Given the description of an element on the screen output the (x, y) to click on. 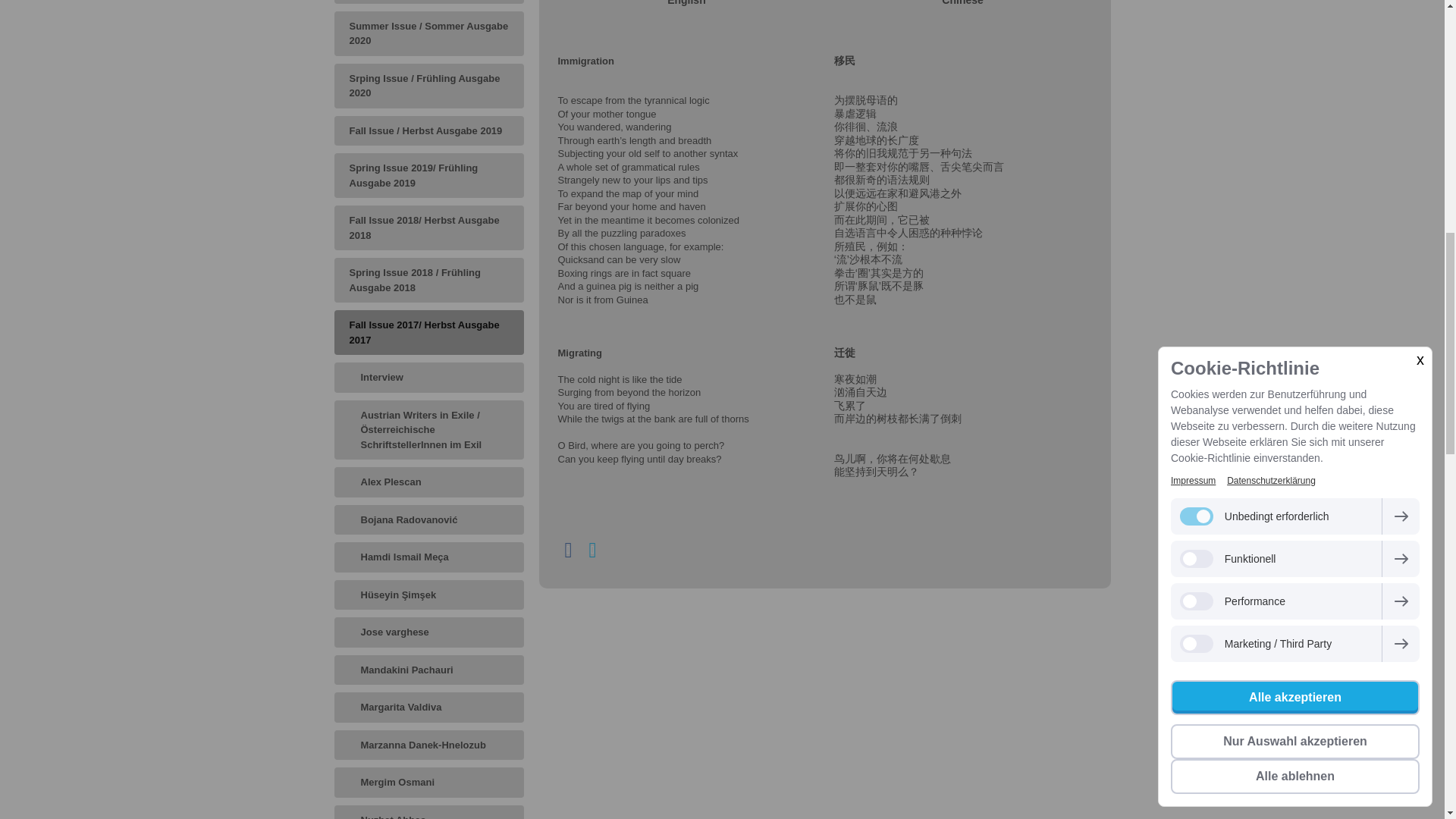
Twitter (593, 550)
Facebook (568, 550)
